Given the description of an element on the screen output the (x, y) to click on. 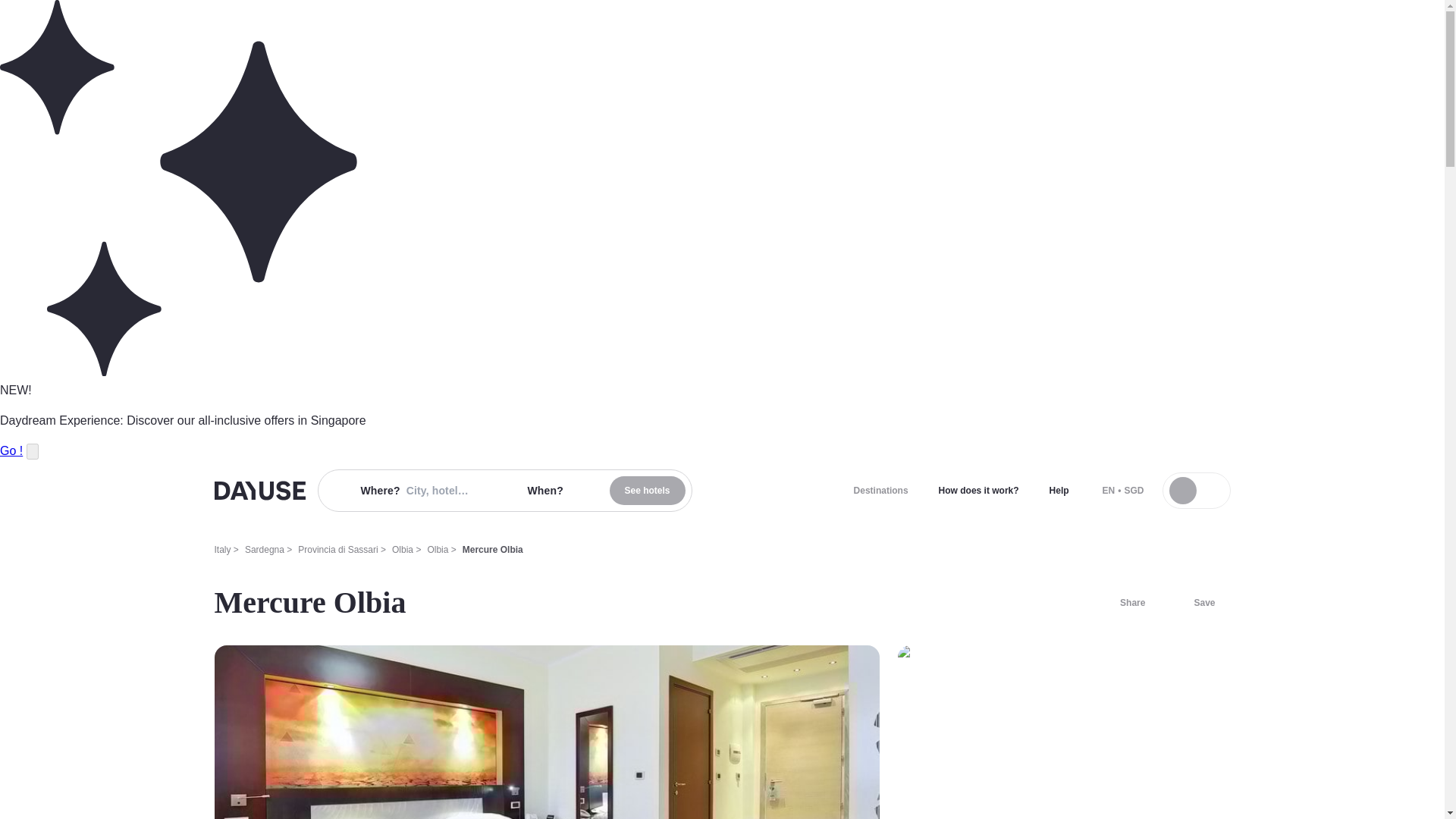
Share (1123, 602)
Italy (222, 549)
Destinations (880, 490)
Sardegna (263, 549)
Dayuse (259, 490)
How does it work? (978, 490)
Olbia (402, 549)
Save (1195, 602)
Provincia di Sassari (337, 549)
Olbia (437, 549)
See hotels (647, 490)
Help (1058, 490)
